Given the description of an element on the screen output the (x, y) to click on. 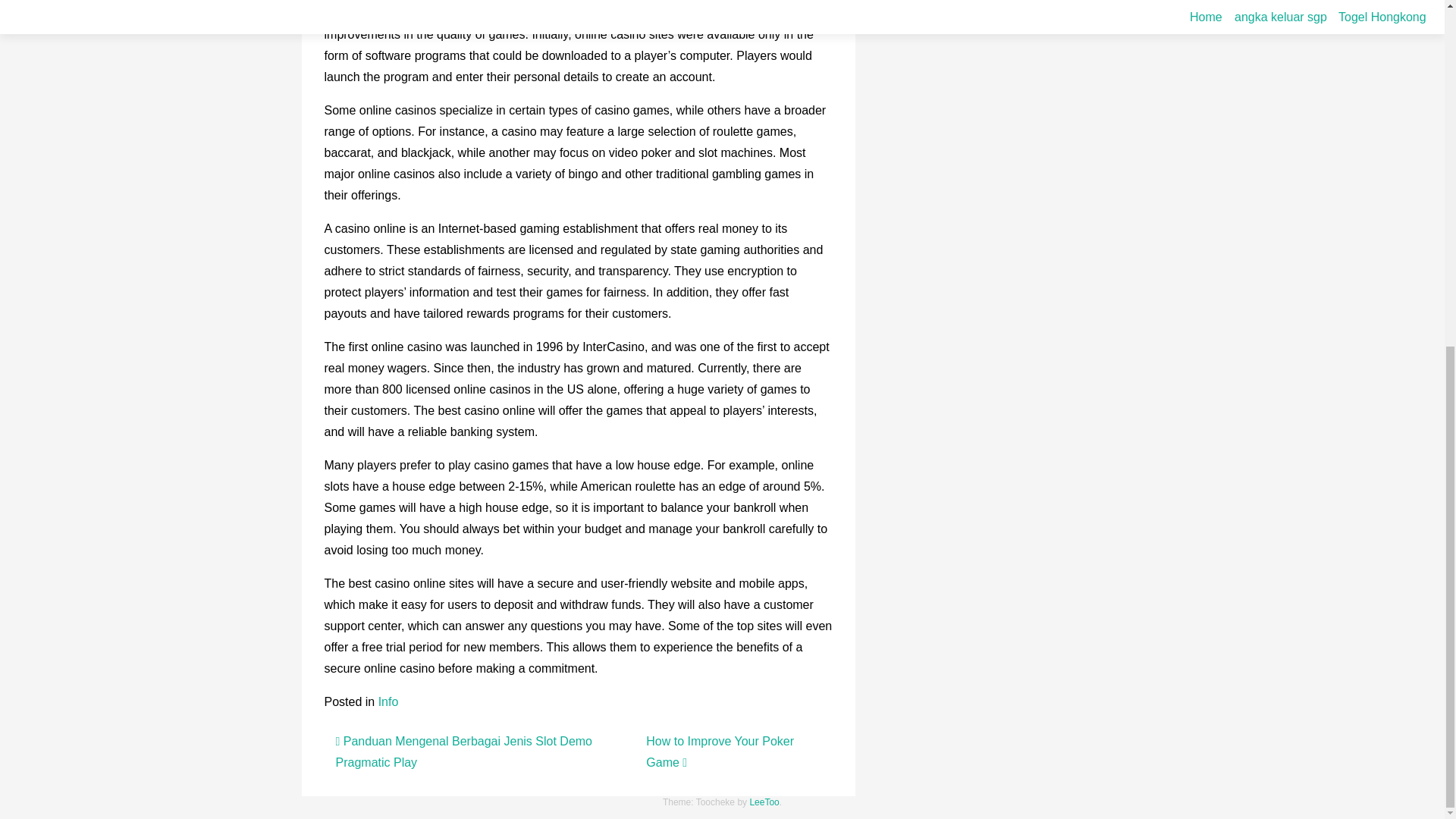
LeeToo (763, 801)
 Panduan Mengenal Berbagai Jenis Slot Demo Pragmatic Play (463, 751)
Info (388, 701)
How to Improve Your Poker Game  (719, 751)
